Given the description of an element on the screen output the (x, y) to click on. 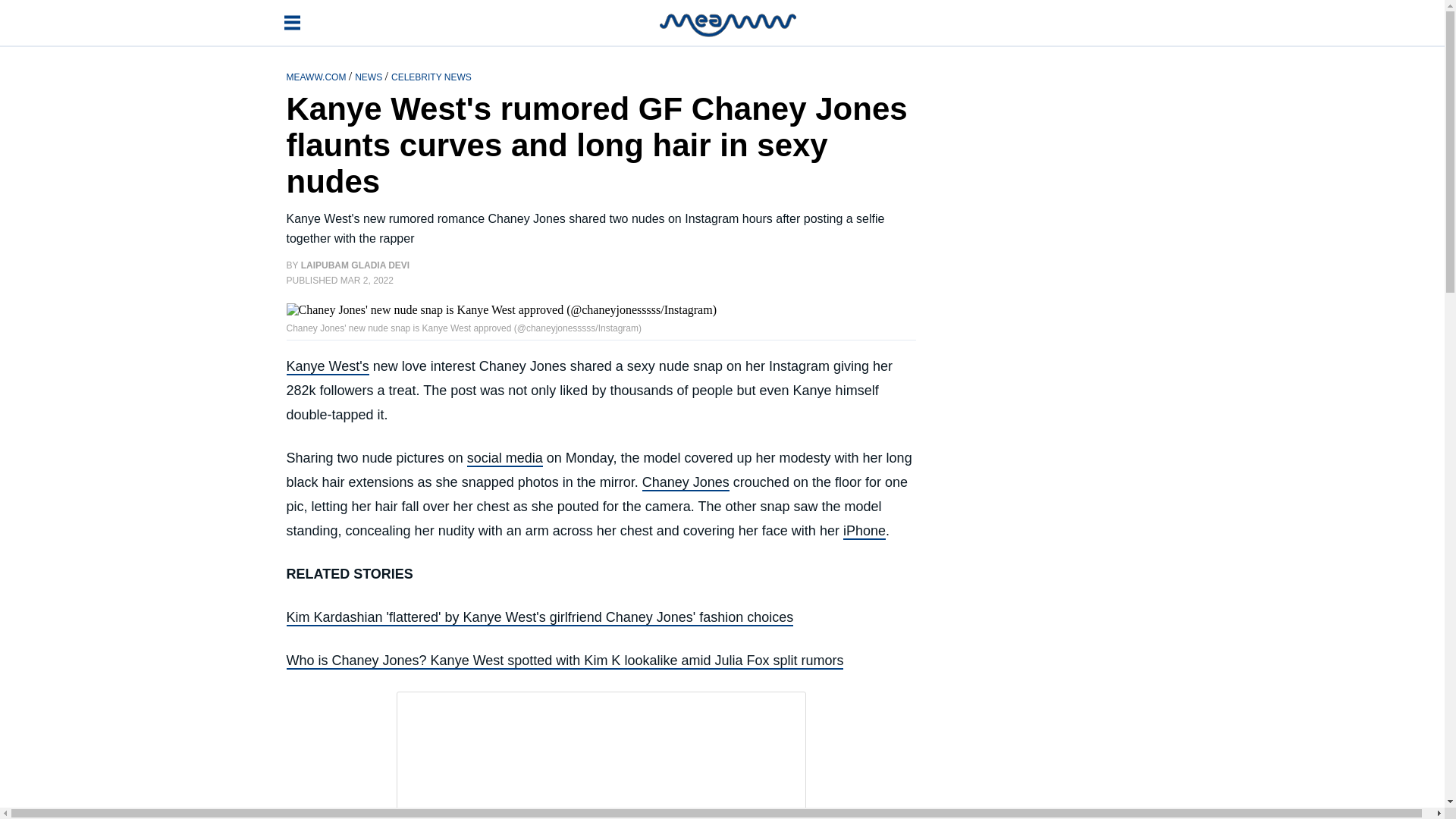
NEWS (369, 75)
MEAWW.COM (317, 75)
social media (505, 458)
LAIPUBAM GLADIA DEVI (355, 265)
Chaney Jones (685, 483)
iPhone (864, 531)
CELEBRITY NEWS (431, 75)
Kanye West's (327, 366)
